Given the description of an element on the screen output the (x, y) to click on. 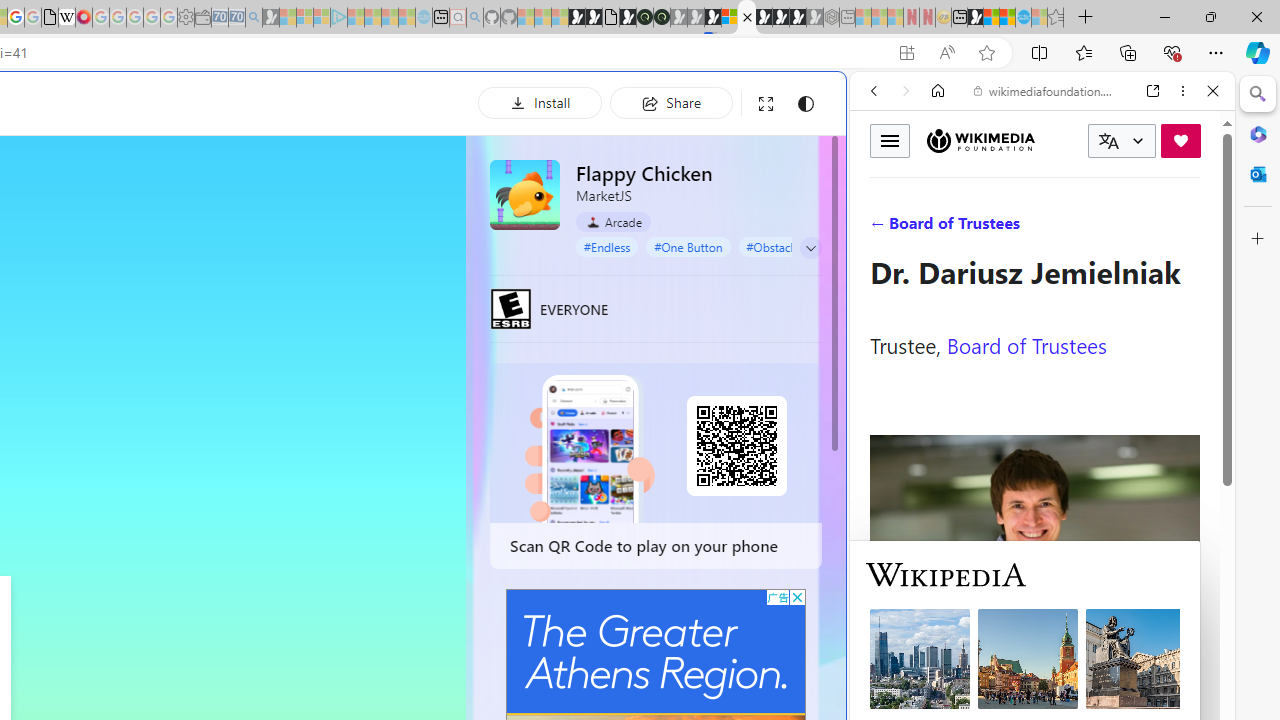
#Obstacle Course (792, 246)
Frequently visited (418, 265)
Share (671, 102)
Change to dark mode (805, 103)
